Given the description of an element on the screen output the (x, y) to click on. 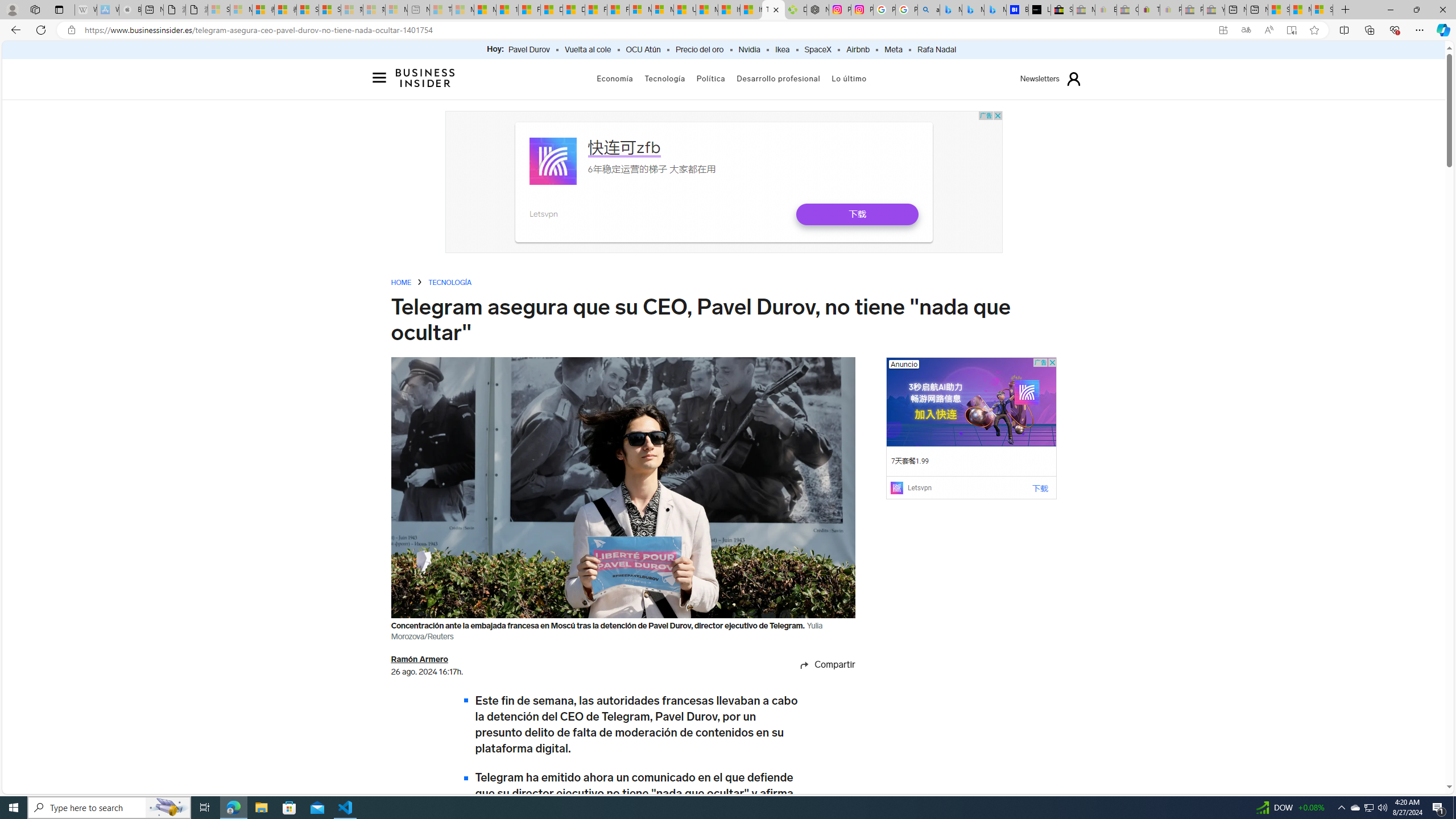
Nordace - Nordace Edin Collection (818, 9)
Ikea (782, 49)
HOME (401, 283)
Whatsapp (815, 727)
Flipboard (815, 705)
Pavel Durov (528, 49)
Facebook (815, 683)
Newsletters (1039, 78)
Desarrollo profesional (778, 78)
